Given the description of an element on the screen output the (x, y) to click on. 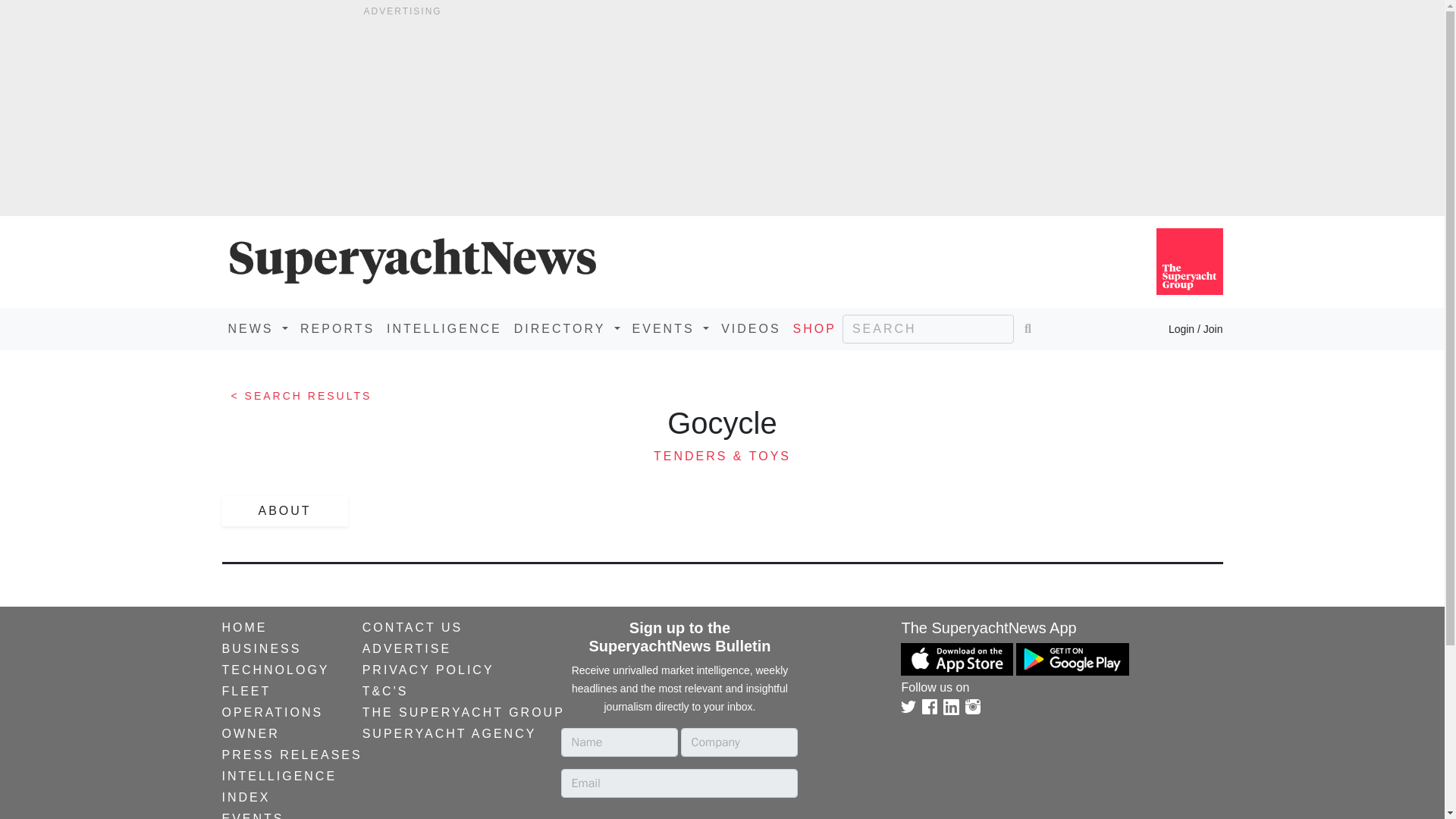
VIDEOS (750, 328)
INTELLIGENCE (444, 328)
REPORTS (337, 328)
EVENTS (671, 328)
NEWS (257, 328)
DIRECTORY (567, 328)
ABOUT (284, 511)
SHOP (815, 328)
